Given the description of an element on the screen output the (x, y) to click on. 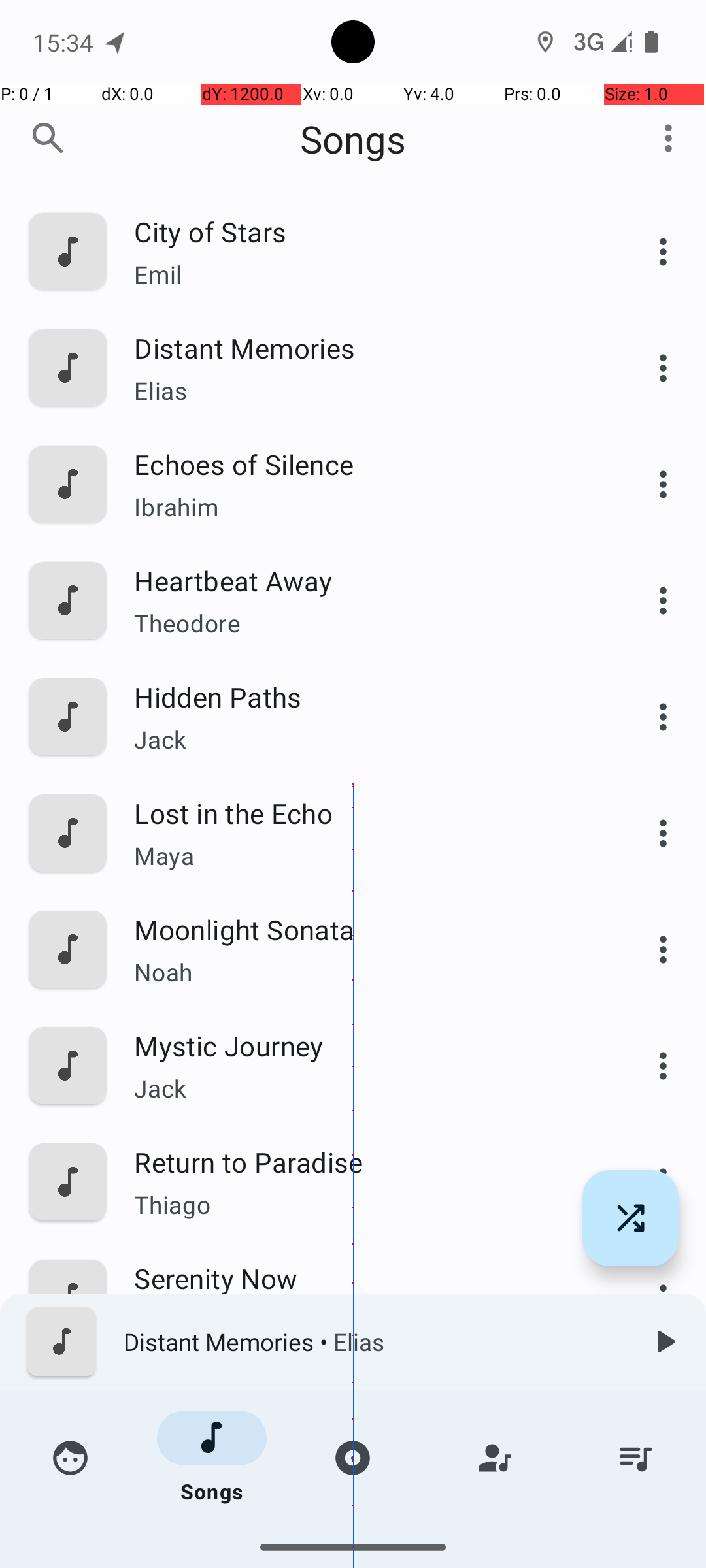
Distant Memories • Elias Element type: android.widget.TextView (372, 1341)
City of Stars Element type: android.widget.TextView (363, 231)
Emil Element type: android.widget.TextView (363, 273)
Distant Memories Element type: android.widget.TextView (363, 347)
Elias Element type: android.widget.TextView (363, 390)
Echoes of Silence Element type: android.widget.TextView (363, 463)
Ibrahim Element type: android.widget.TextView (363, 506)
Heartbeat Away Element type: android.widget.TextView (363, 580)
Theodore Element type: android.widget.TextView (363, 622)
Hidden Paths Element type: android.widget.TextView (363, 696)
Jack Element type: android.widget.TextView (363, 738)
Lost in the Echo Element type: android.widget.TextView (363, 812)
Maya Element type: android.widget.TextView (363, 855)
Moonlight Sonata Element type: android.widget.TextView (363, 928)
Noah Element type: android.widget.TextView (363, 971)
Mystic Journey Element type: android.widget.TextView (363, 1045)
Return to Paradise Element type: android.widget.TextView (363, 1161)
Thiago Element type: android.widget.TextView (363, 1204)
Serenity Now Element type: android.widget.TextView (363, 1277)
Mark Element type: android.widget.TextView (363, 1320)
Silent Dreams Element type: android.widget.TextView (363, 1394)
Olivia Element type: android.widget.TextView (363, 1436)
Twilight Calling Element type: android.widget.TextView (363, 1510)
Emilia Element type: android.widget.TextView (363, 1538)
